Given the description of an element on the screen output the (x, y) to click on. 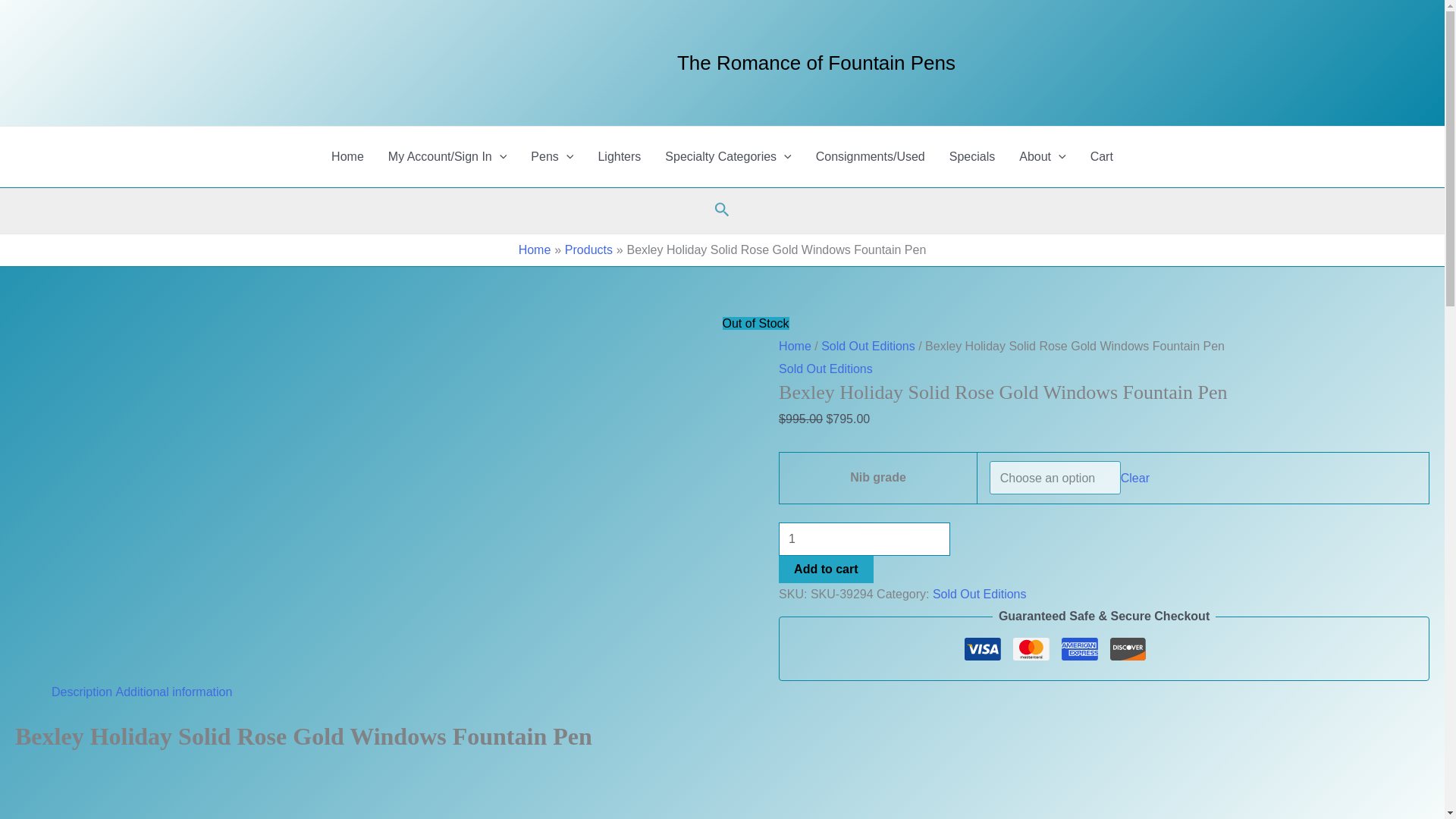
Home (346, 156)
1 (864, 539)
Pens (551, 156)
